Given the description of an element on the screen output the (x, y) to click on. 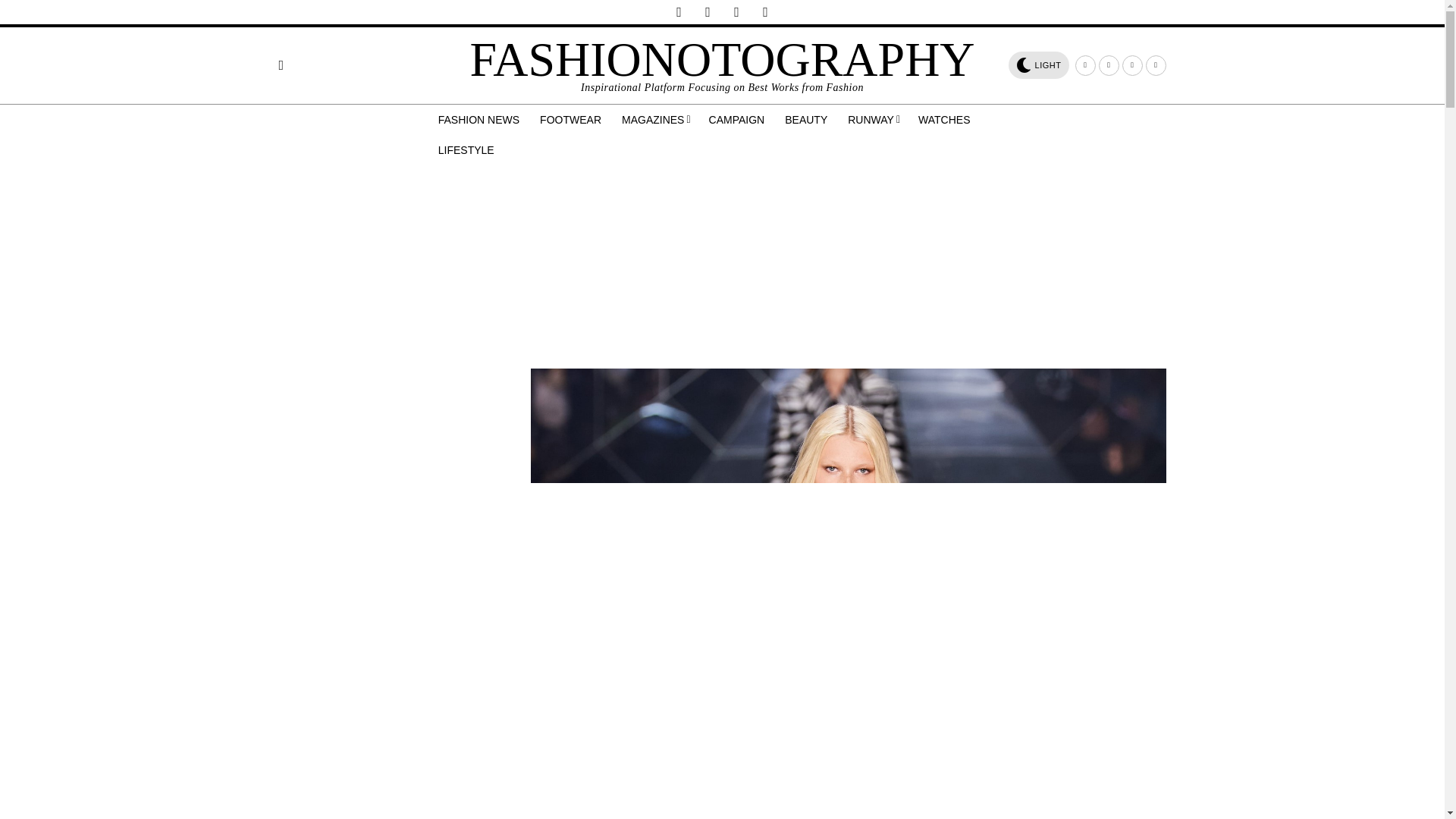
BEAUTY (807, 119)
RUNWAY (873, 119)
MAGAZINES (656, 119)
CAMPAIGN (738, 119)
FASHIONOTOGRAPHY (721, 59)
LIFESTYLE (467, 150)
FOOTWEAR (571, 119)
WATCHES (944, 119)
FASHION NEWS (480, 119)
